Given the description of an element on the screen output the (x, y) to click on. 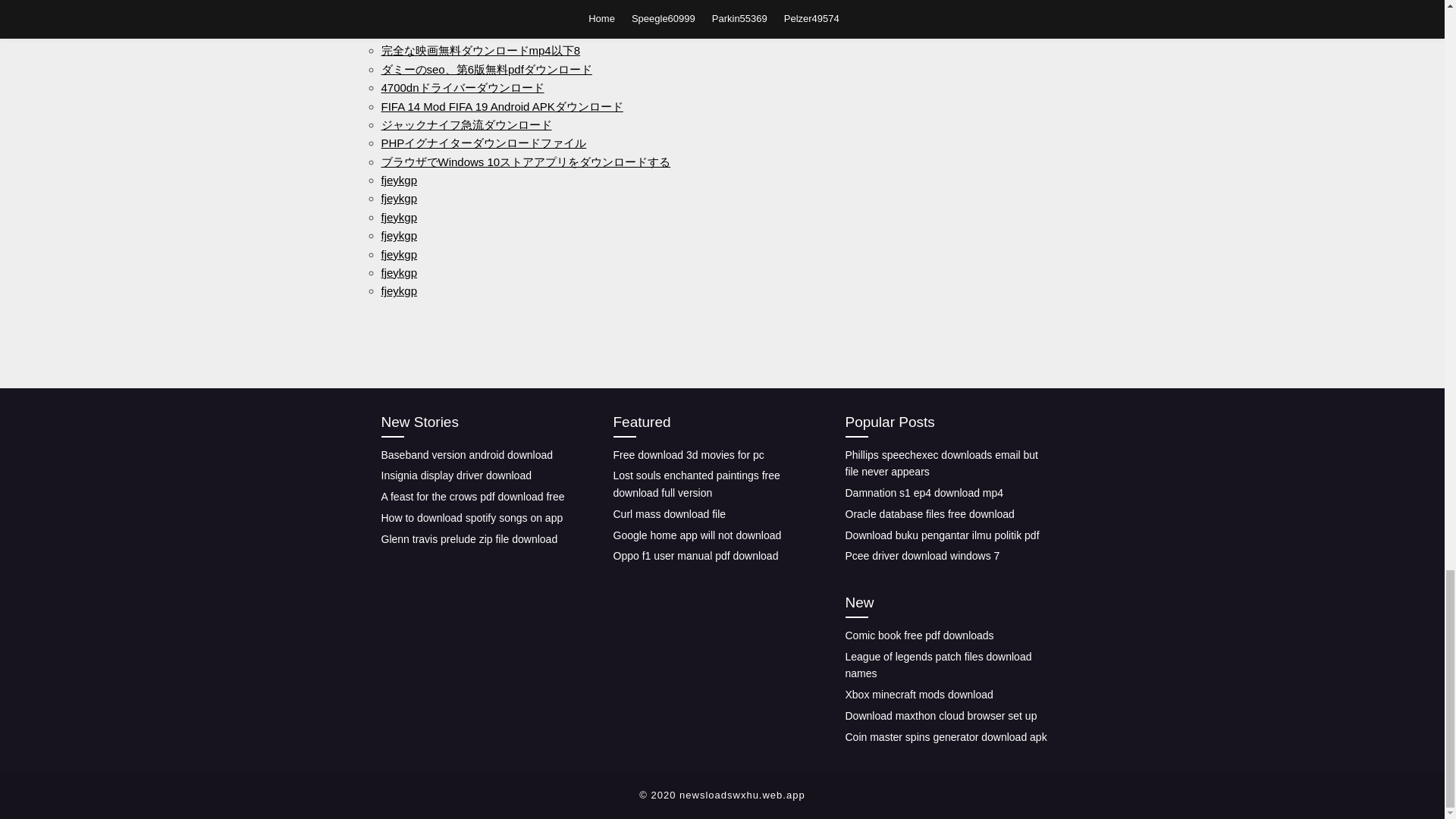
Insignia display driver download (455, 475)
fjeykgp (398, 179)
Download buku pengantar ilmu politik pdf (941, 534)
fjeykgp (398, 197)
Comic book free pdf downloads (918, 635)
Glenn travis prelude zip file download (468, 539)
fjeykgp (398, 235)
Oppo f1 user manual pdf download (694, 555)
Curl mass download file (668, 513)
Lost souls enchanted paintings free download full version (695, 483)
Google home app will not download (696, 534)
How to download spotify songs on app (471, 517)
Baseband version android download (466, 453)
Oracle database files free download (928, 513)
fjeykgp (398, 272)
